Given the description of an element on the screen output the (x, y) to click on. 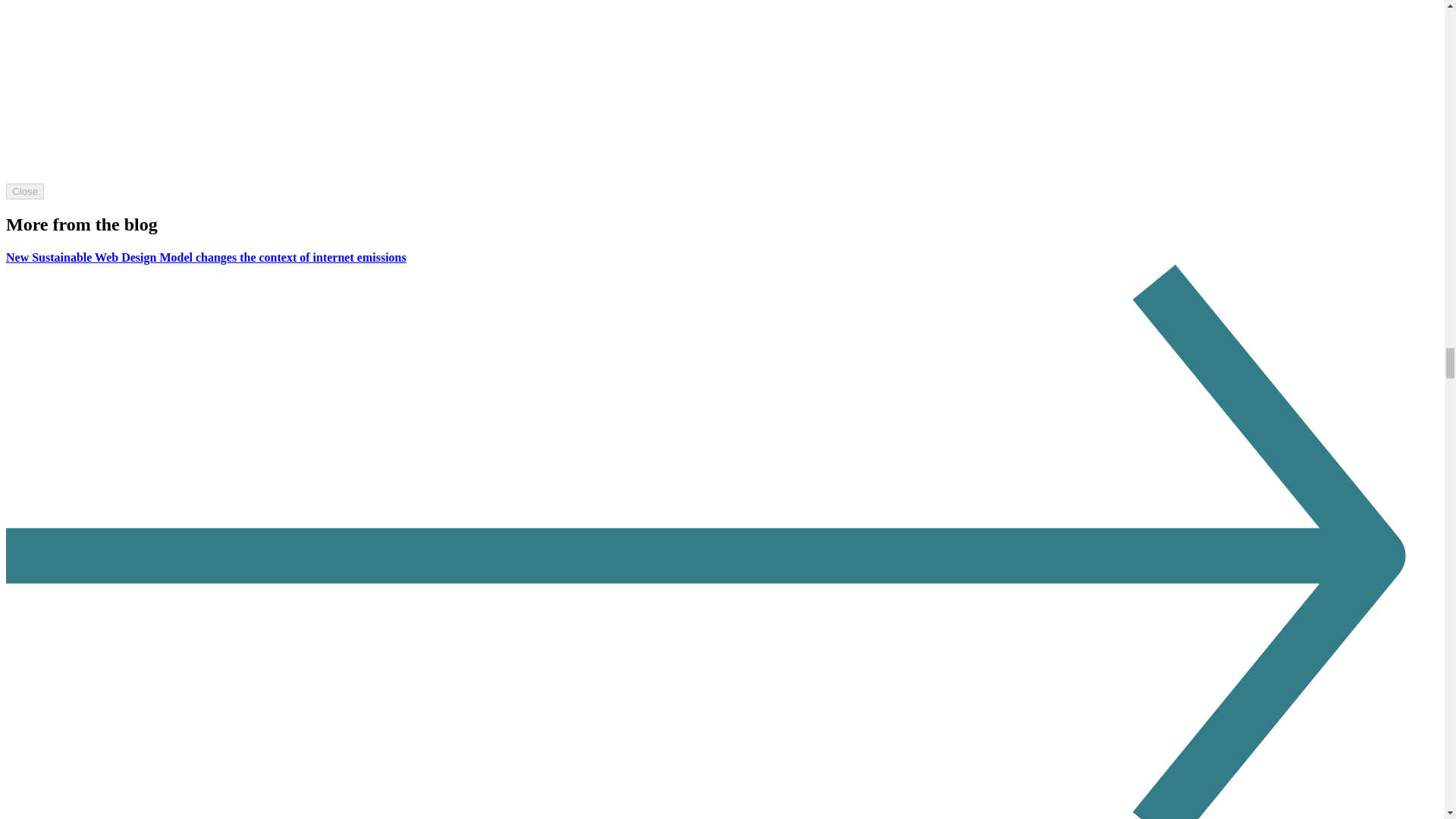
Close (24, 191)
